Given the description of an element on the screen output the (x, y) to click on. 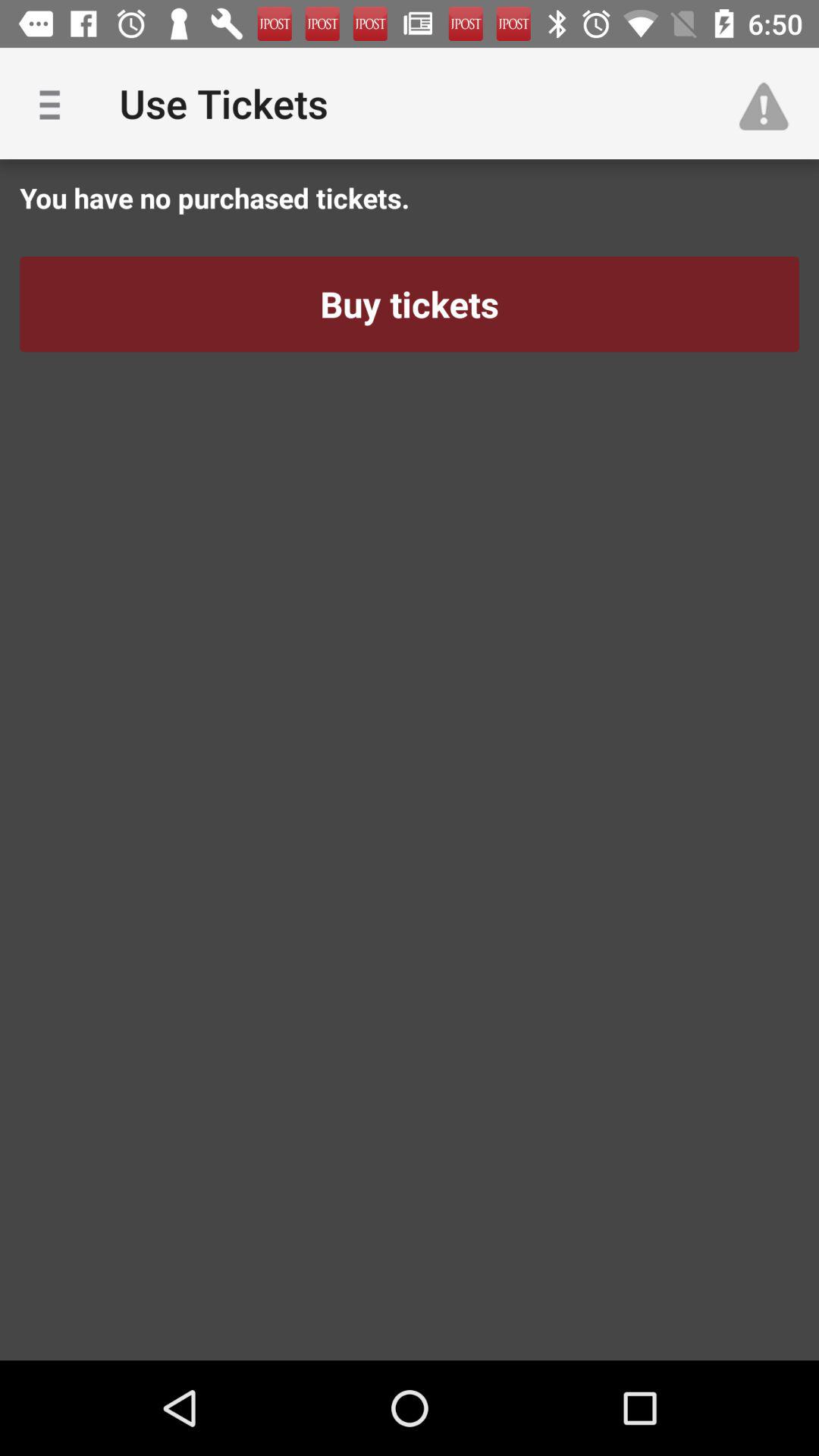
turn off the buy tickets item (409, 304)
